Given the description of an element on the screen output the (x, y) to click on. 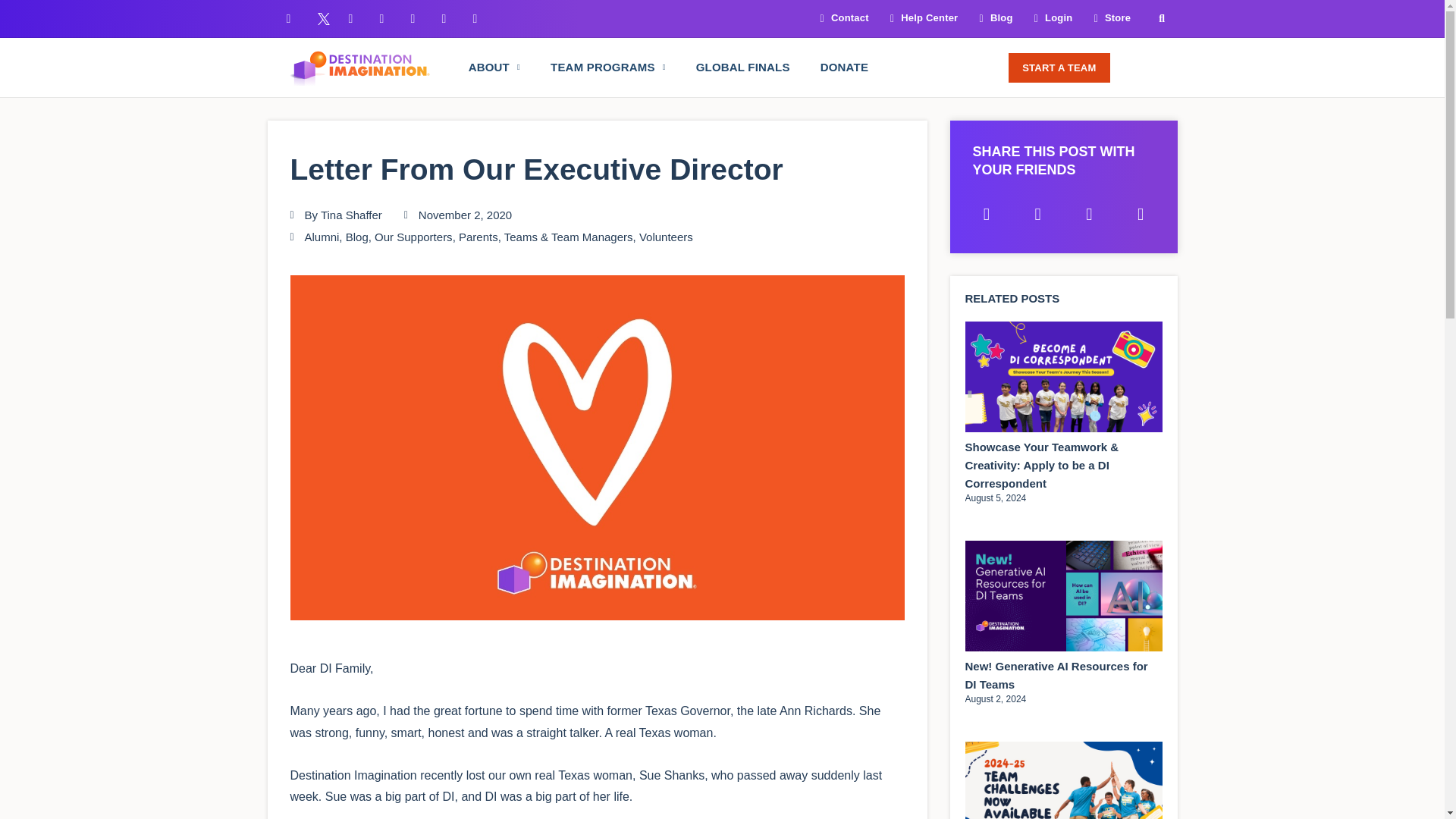
Contact (838, 18)
By Tina Shaffer (335, 215)
Store (1107, 18)
DONATE (844, 67)
ABOUT (493, 67)
Help Center (919, 18)
Login (1049, 18)
TEAM PROGRAMS (607, 67)
START A TEAM (1059, 67)
